Given the description of an element on the screen output the (x, y) to click on. 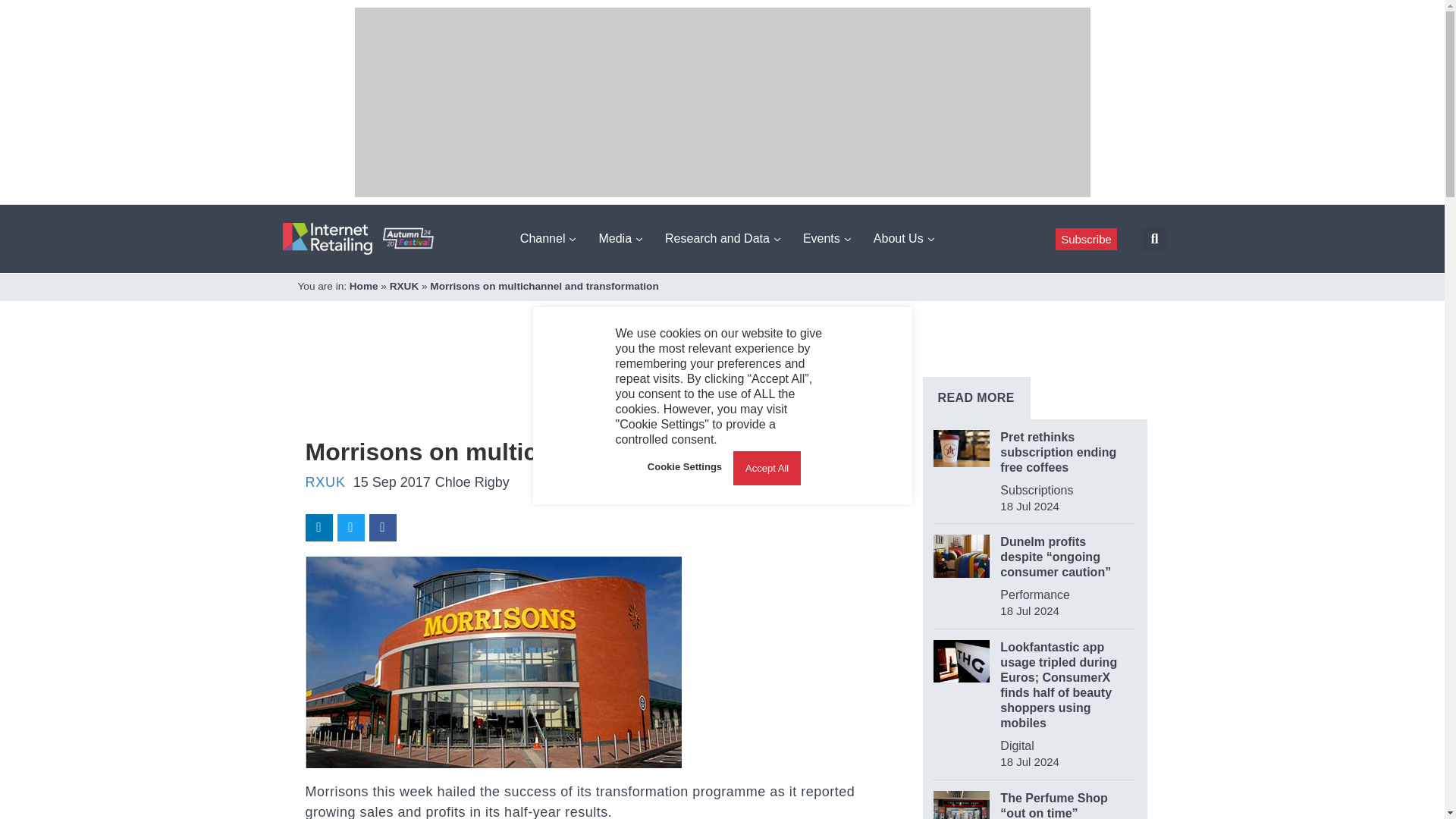
3rd party ad content (580, 387)
Research and Data (722, 238)
Channel (547, 238)
Media (620, 238)
